Given the description of an element on the screen output the (x, y) to click on. 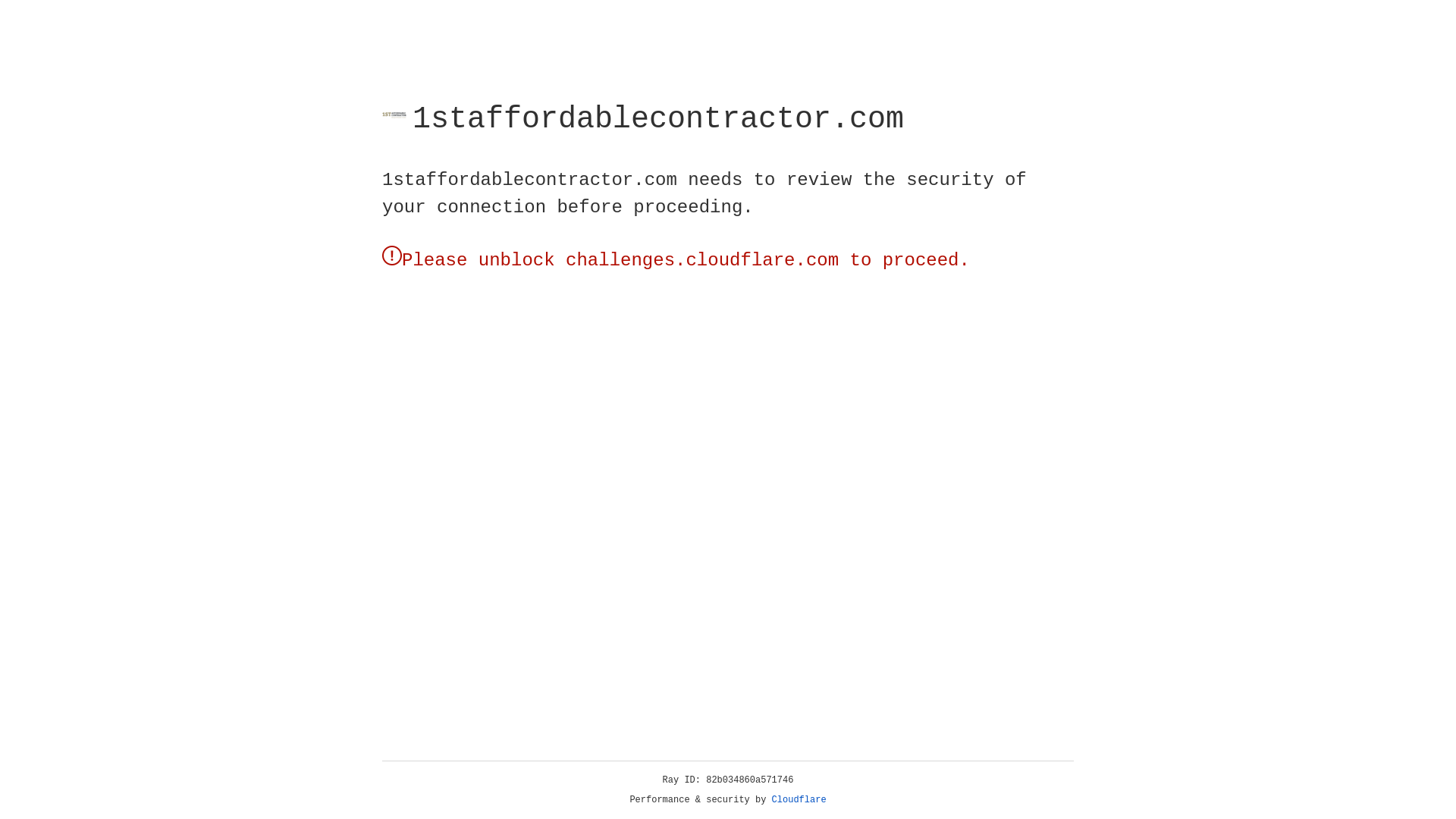
Cloudflare Element type: text (798, 799)
